Given the description of an element on the screen output the (x, y) to click on. 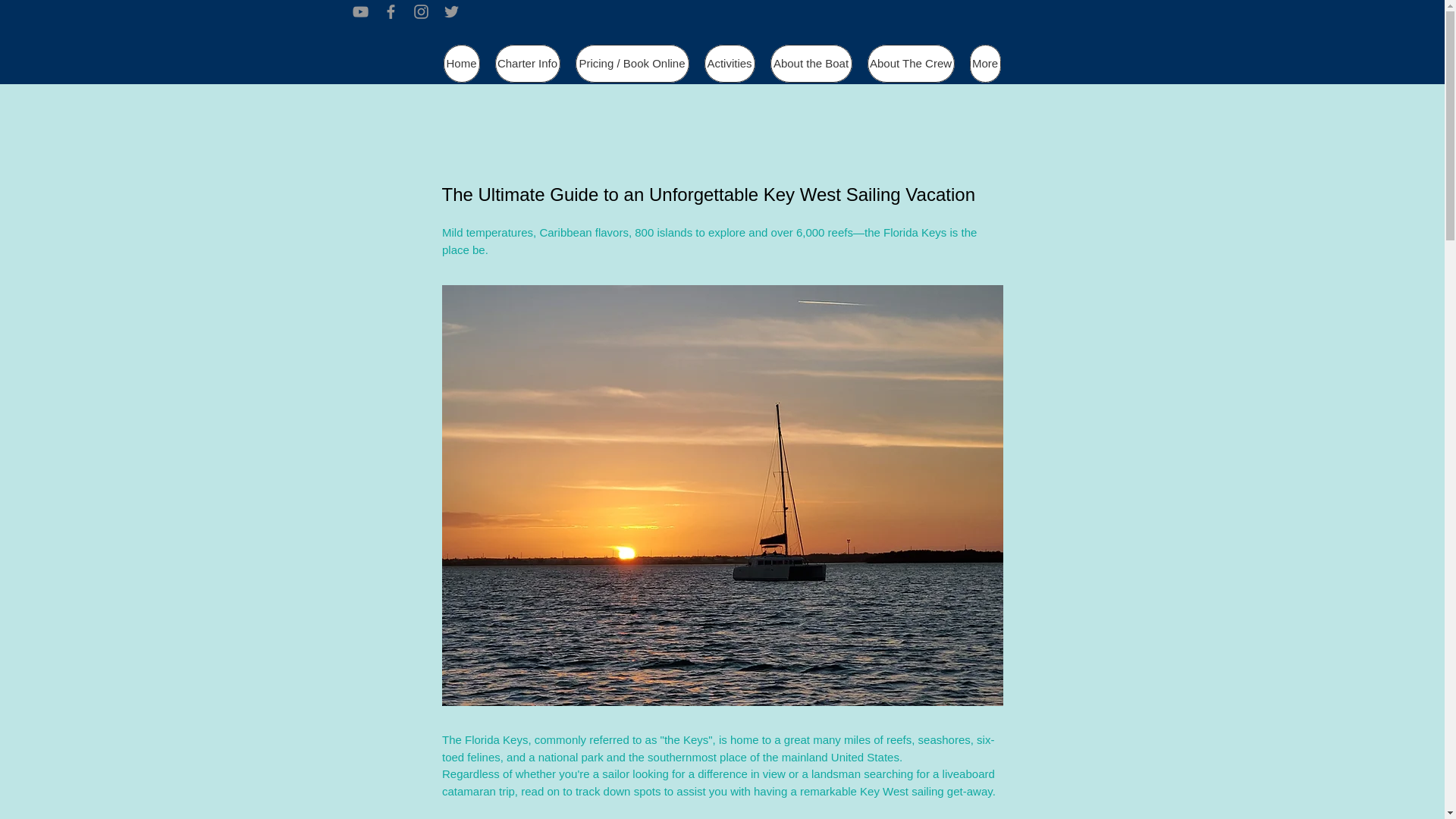
Activities (728, 63)
Home (460, 63)
About The Crew (911, 63)
